Given the description of an element on the screen output the (x, y) to click on. 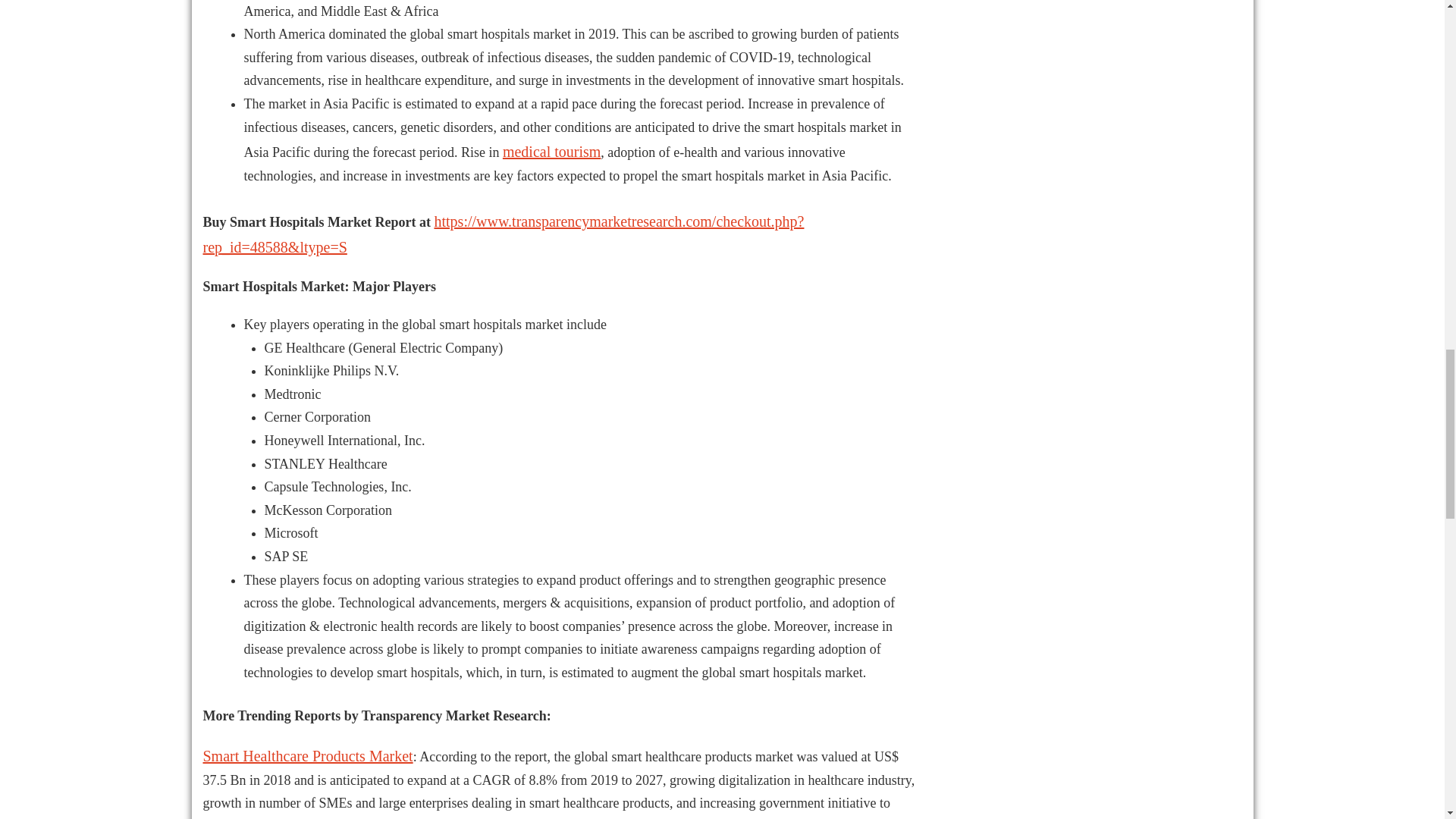
Smart Healthcare Products Market (308, 755)
medical tourism (550, 151)
